Given the description of an element on the screen output the (x, y) to click on. 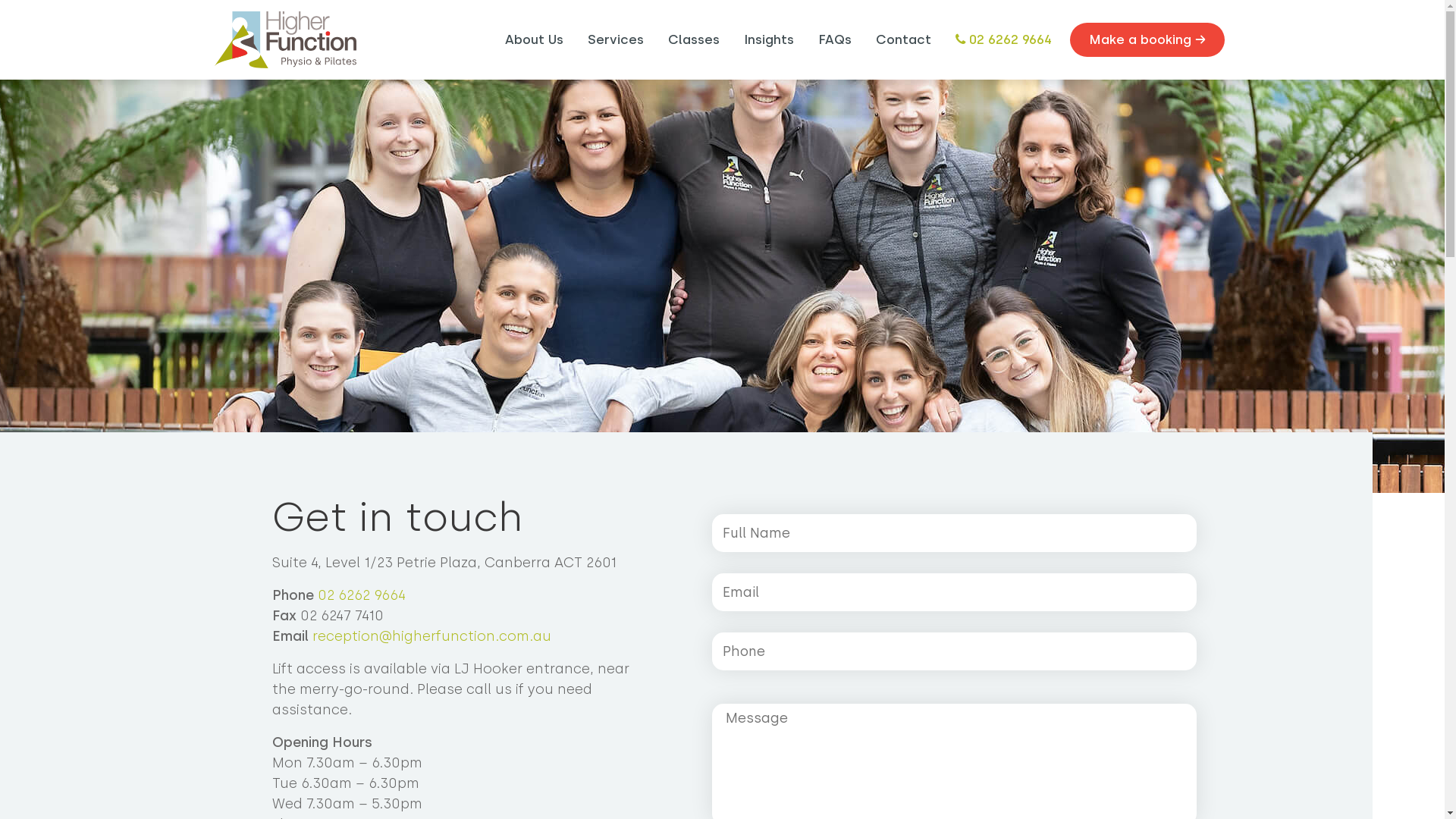
02 6262 9664 Element type: text (1003, 40)
Services Element type: text (614, 40)
Classes Element type: text (692, 40)
Insights Element type: text (768, 40)
02 6262 9664 Element type: text (361, 594)
reception@higherfunction.com.au Element type: text (431, 635)
Contact Element type: text (902, 40)
FAQs Element type: text (833, 40)
About Us Element type: text (533, 40)
